Given the description of an element on the screen output the (x, y) to click on. 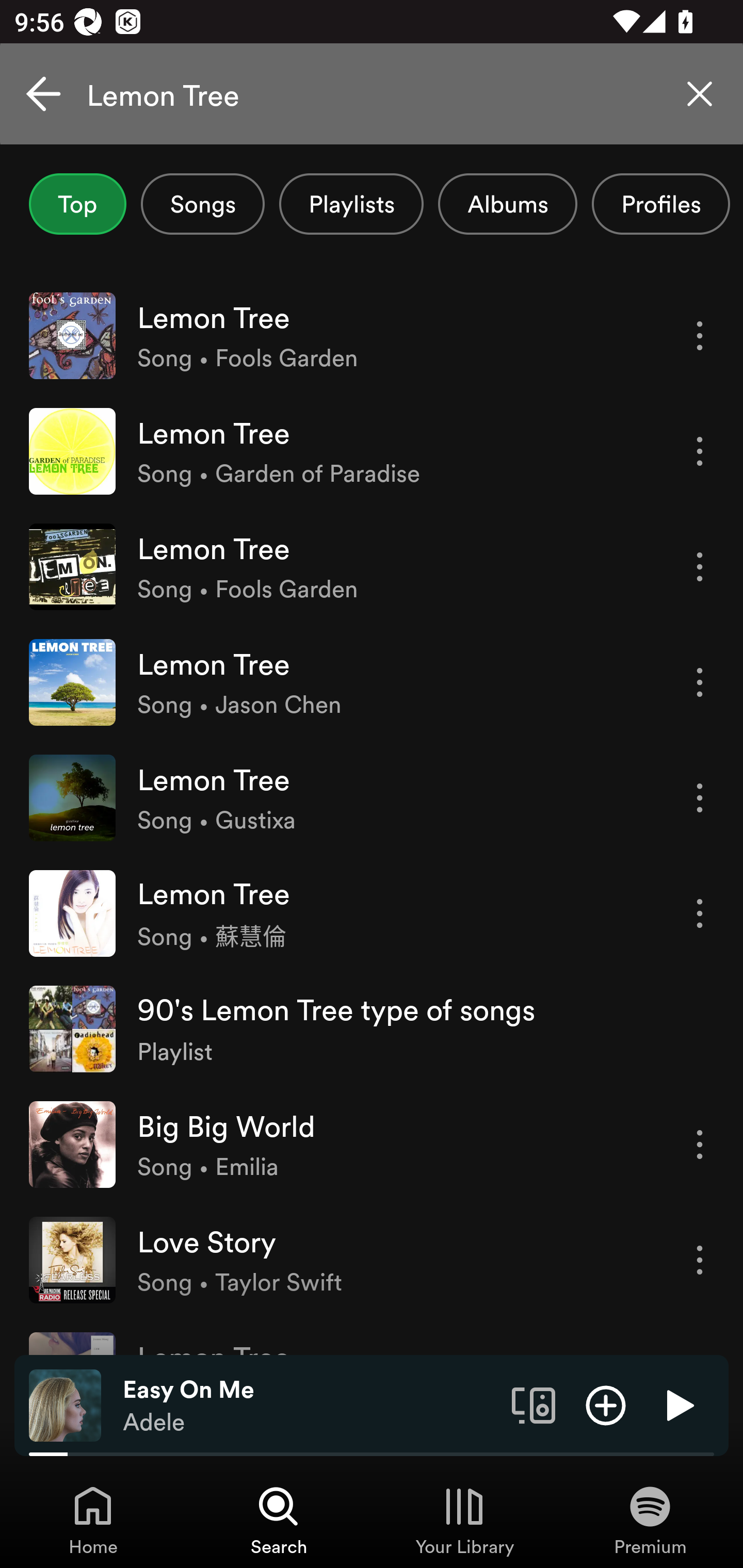
Lemon Tree (371, 93)
Cancel (43, 93)
Clear search query (699, 93)
Top (77, 203)
Songs (202, 203)
Playlists (351, 203)
Albums (507, 203)
Profiles (661, 203)
More options for song Lemon Tree (699, 336)
More options for song Lemon Tree (699, 450)
More options for song Lemon Tree (699, 566)
More options for song Lemon Tree (699, 682)
More options for song Lemon Tree (699, 798)
More options for song Lemon Tree (699, 913)
90's Lemon Tree type of songs Playlist (371, 1028)
More options for song Big Big World (699, 1144)
More options for song Love Story (699, 1259)
Easy On Me Adele (309, 1405)
The cover art of the currently playing track (64, 1404)
Connect to a device. Opens the devices menu (533, 1404)
Add item (605, 1404)
Play (677, 1404)
Home, Tab 1 of 4 Home Home (92, 1519)
Search, Tab 2 of 4 Search Search (278, 1519)
Your Library, Tab 3 of 4 Your Library Your Library (464, 1519)
Premium, Tab 4 of 4 Premium Premium (650, 1519)
